Given the description of an element on the screen output the (x, y) to click on. 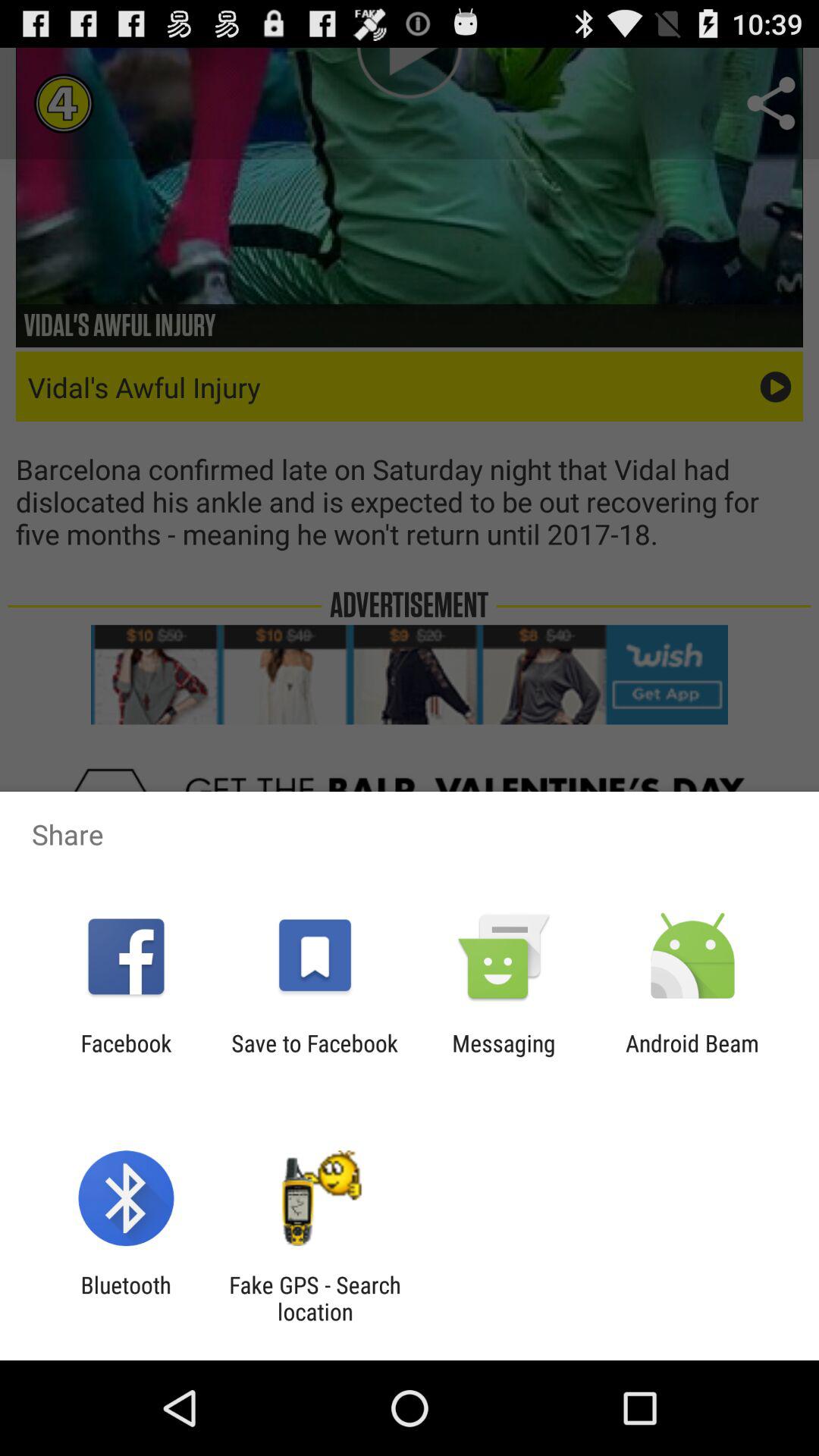
flip until the bluetooth app (125, 1298)
